Given the description of an element on the screen output the (x, y) to click on. 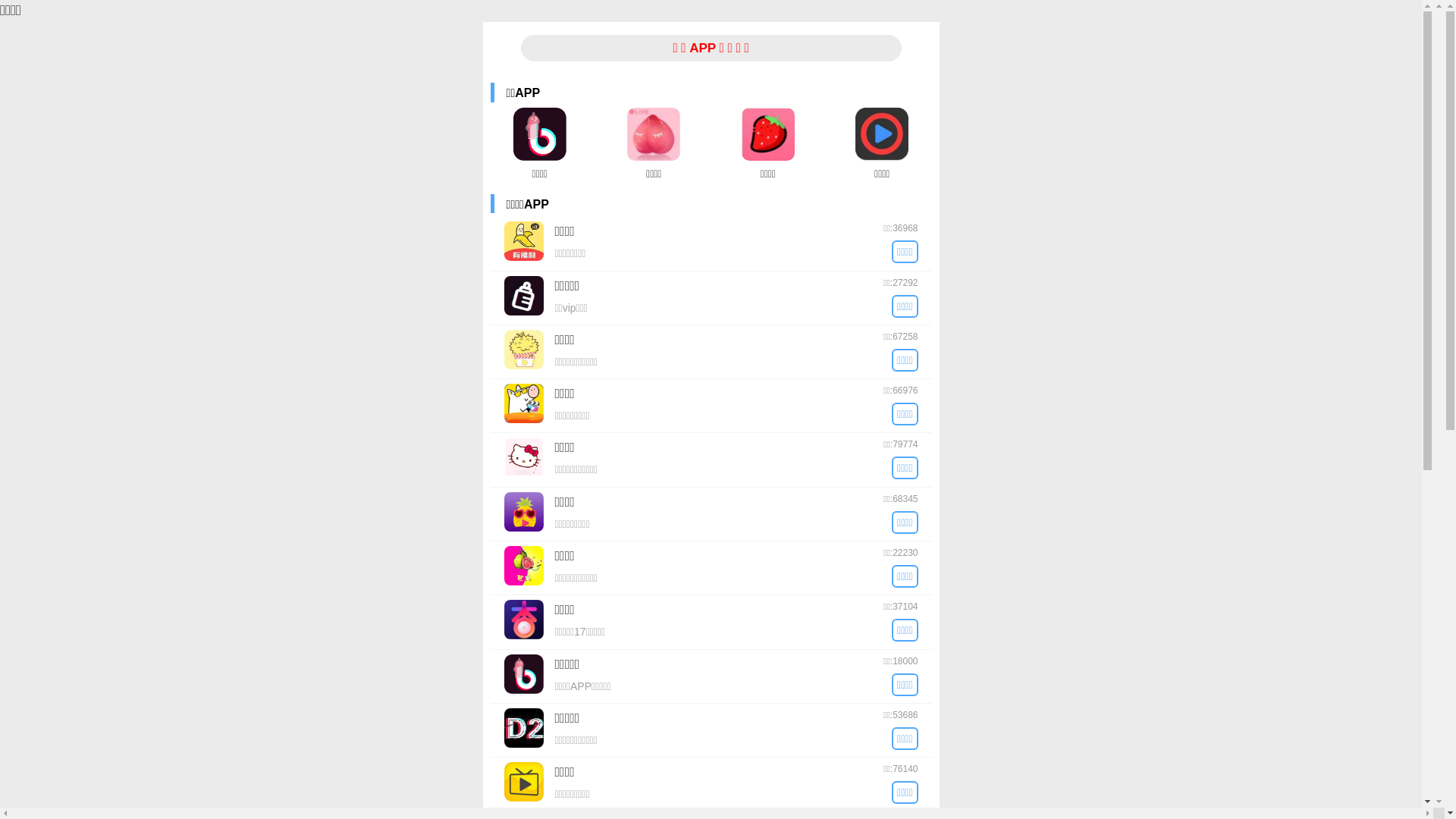
more Element type: text (1058, 501)
English Element type: text (971, 22)
